Given the description of an element on the screen output the (x, y) to click on. 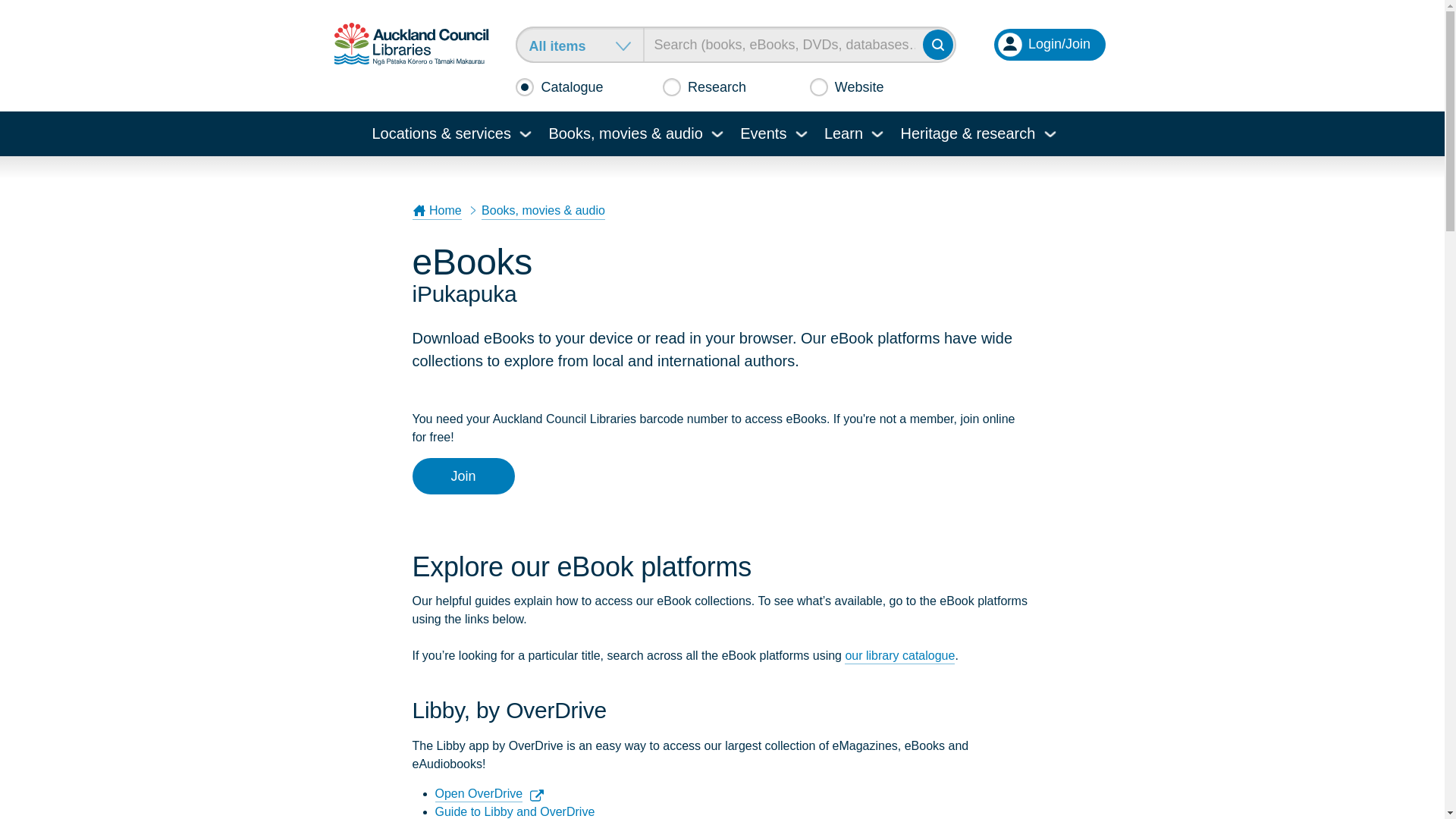
Go to eBooks in the catalogue (899, 656)
Go to Auckland Council Libraries' OverDrive page (478, 794)
Fill in our membership form. (463, 475)
